Given the description of an element on the screen output the (x, y) to click on. 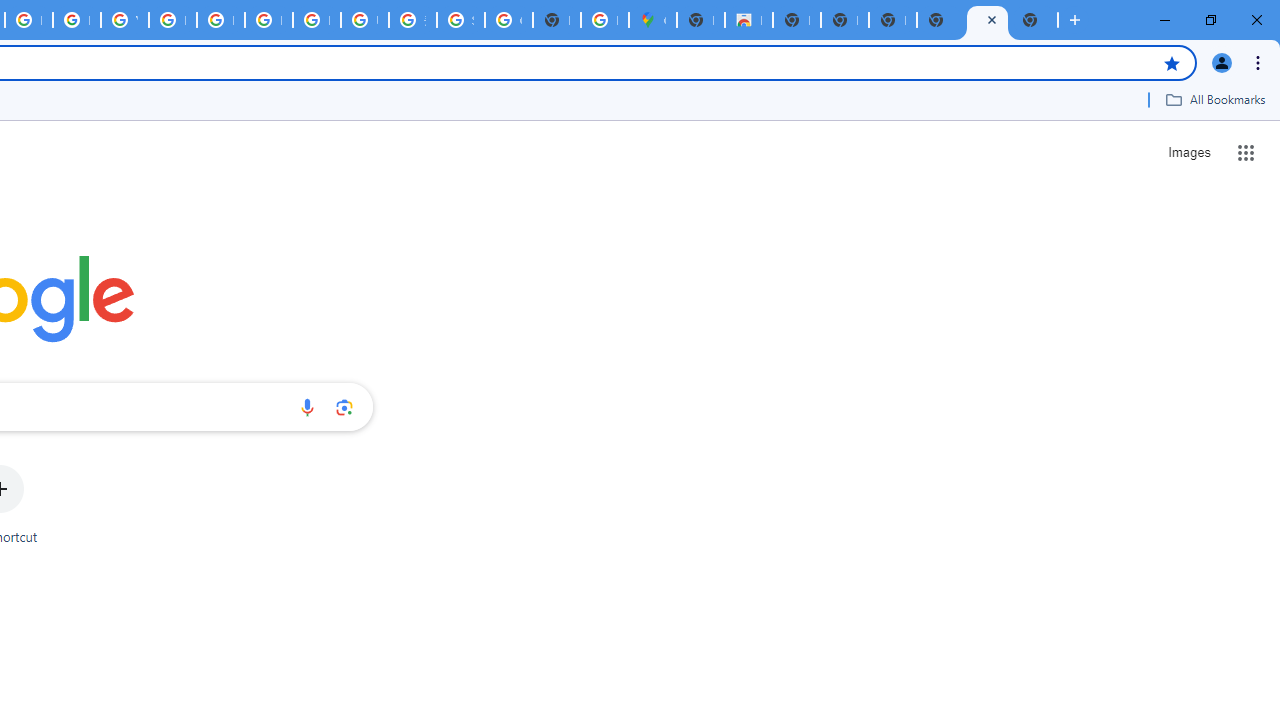
New Tab (700, 20)
Sign in - Google Accounts (460, 20)
Browse Chrome as a guest - Computer - Google Chrome Help (268, 20)
New Tab (939, 20)
Search for Images  (1188, 152)
New Tab (1034, 20)
